Given the description of an element on the screen output the (x, y) to click on. 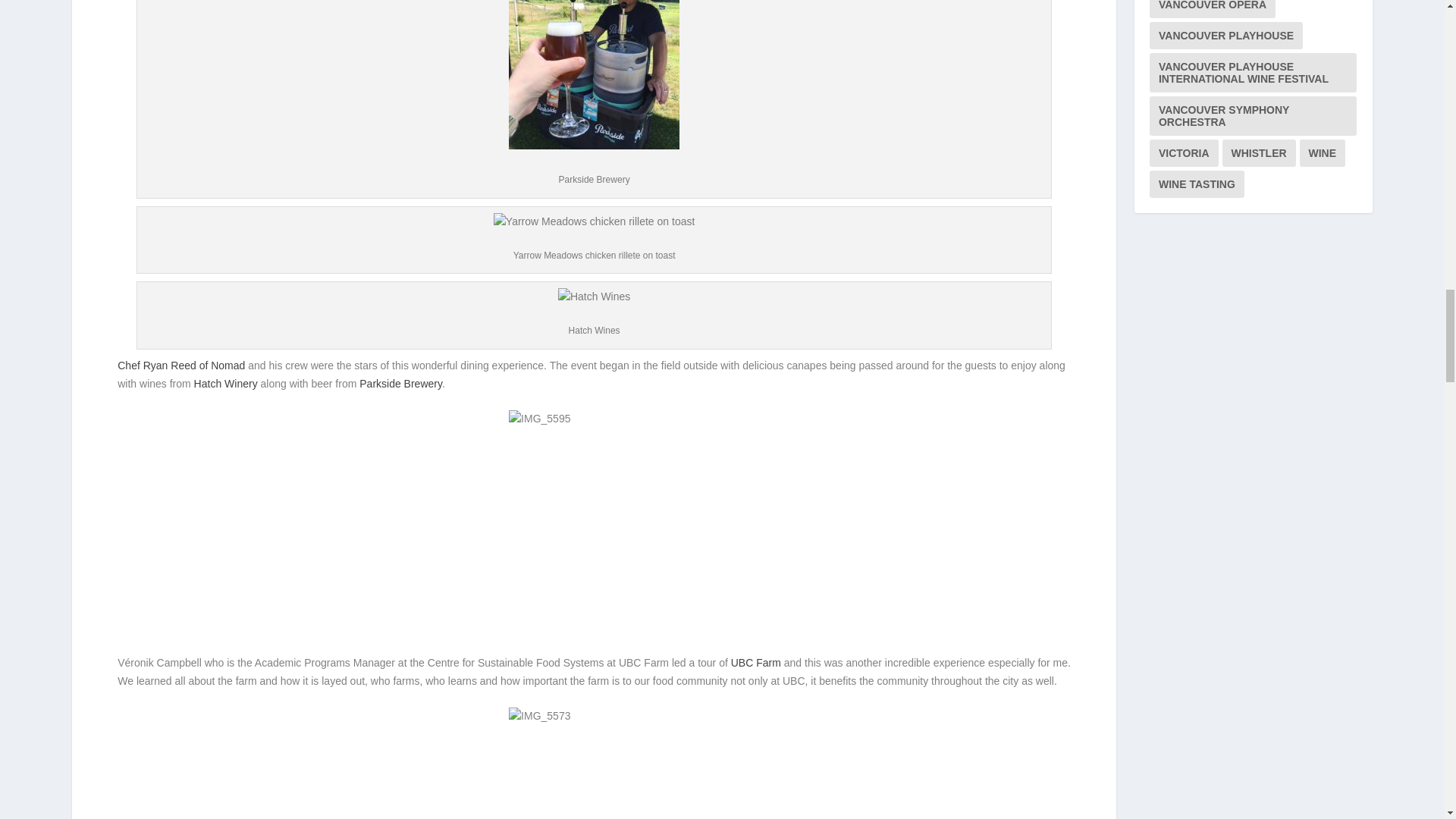
UBC Farm (755, 662)
Parkside Brewery (400, 383)
Hatch Winery (225, 383)
Chef Ryan Reed of Nomad (180, 365)
